Given the description of an element on the screen output the (x, y) to click on. 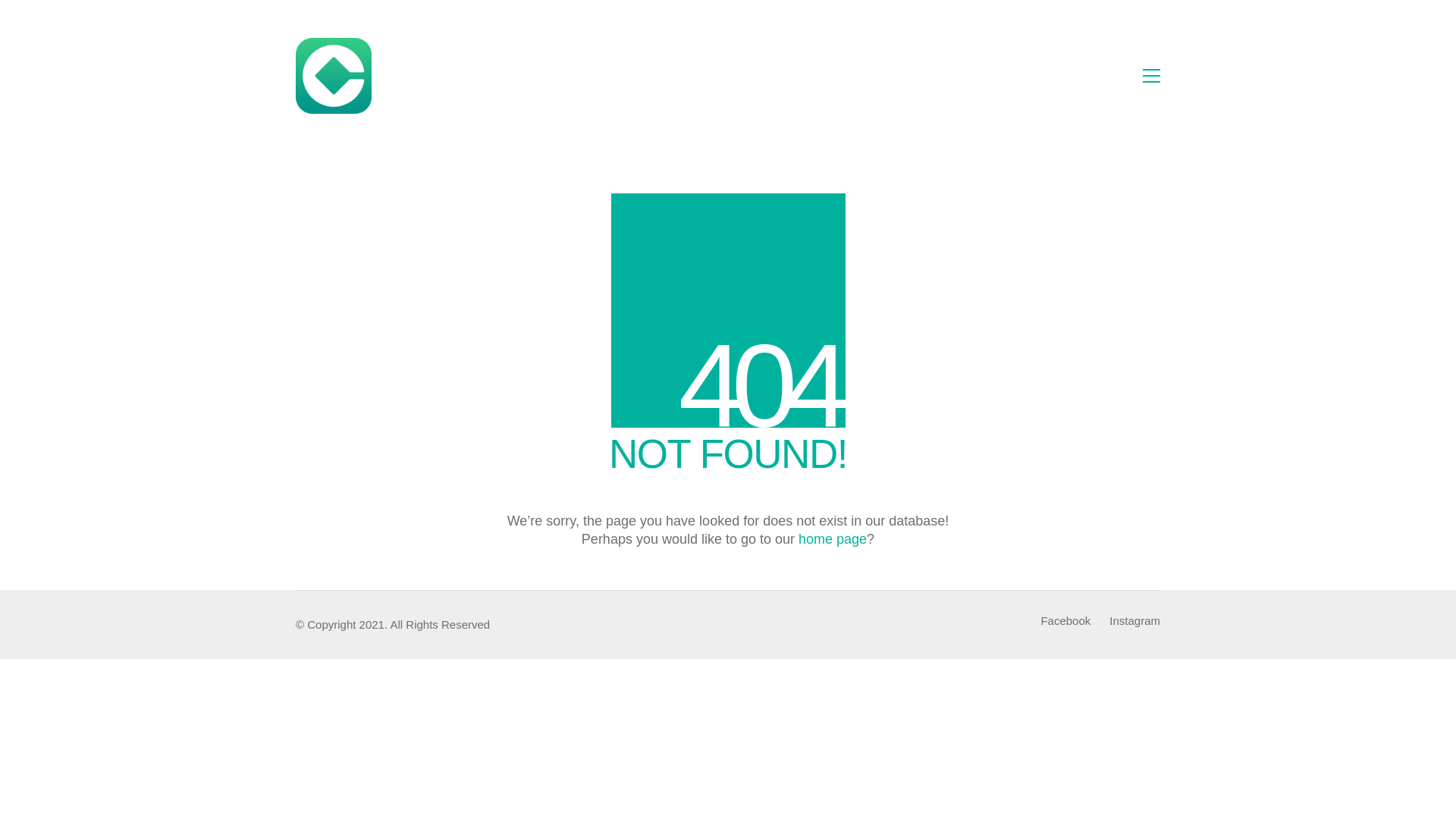
Instagram Element type: text (1134, 620)
Facebook Element type: text (1065, 620)
home page Element type: text (832, 539)
